Given the description of an element on the screen output the (x, y) to click on. 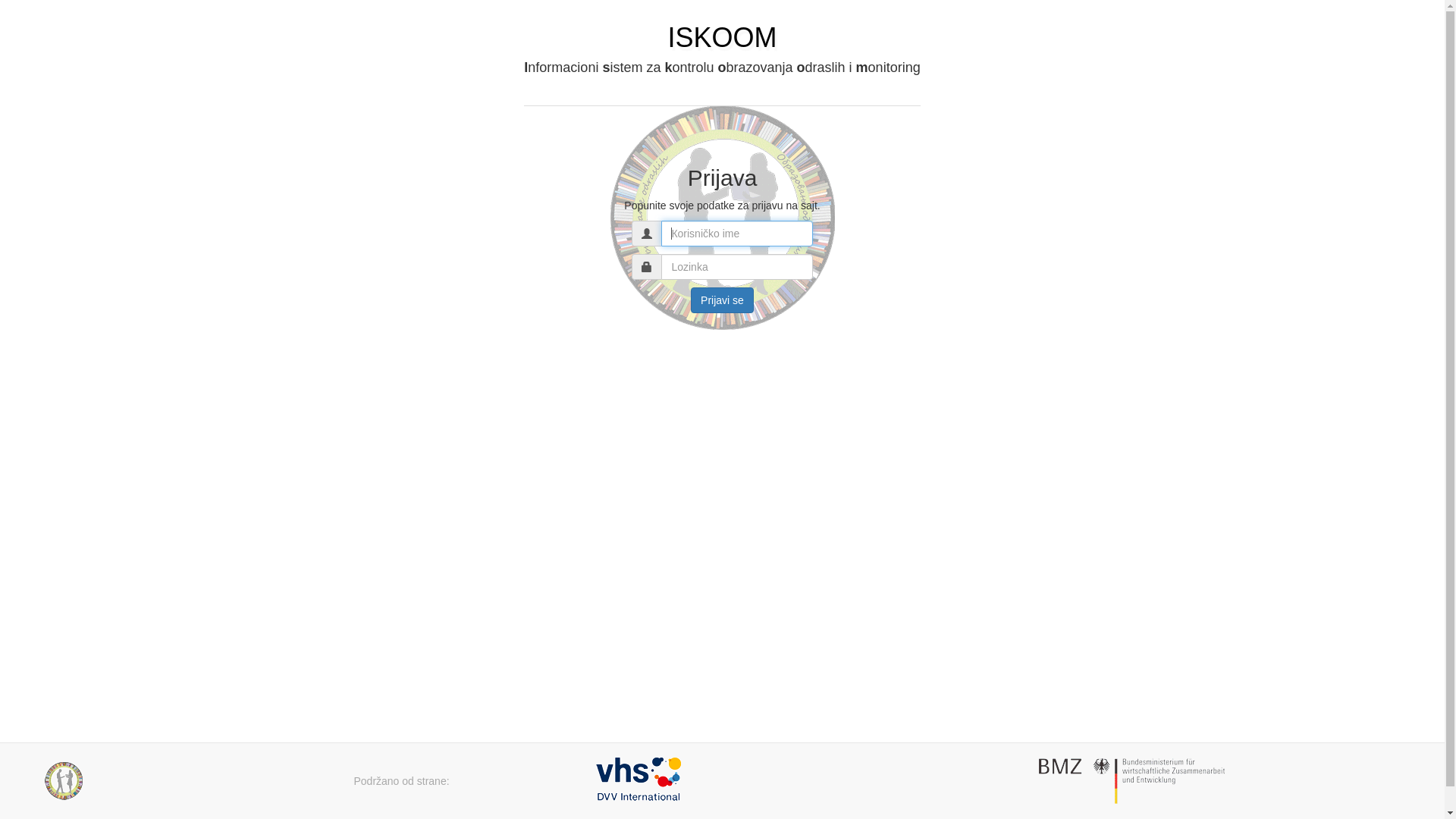
Prijavi se Element type: text (721, 300)
